Given the description of an element on the screen output the (x, y) to click on. 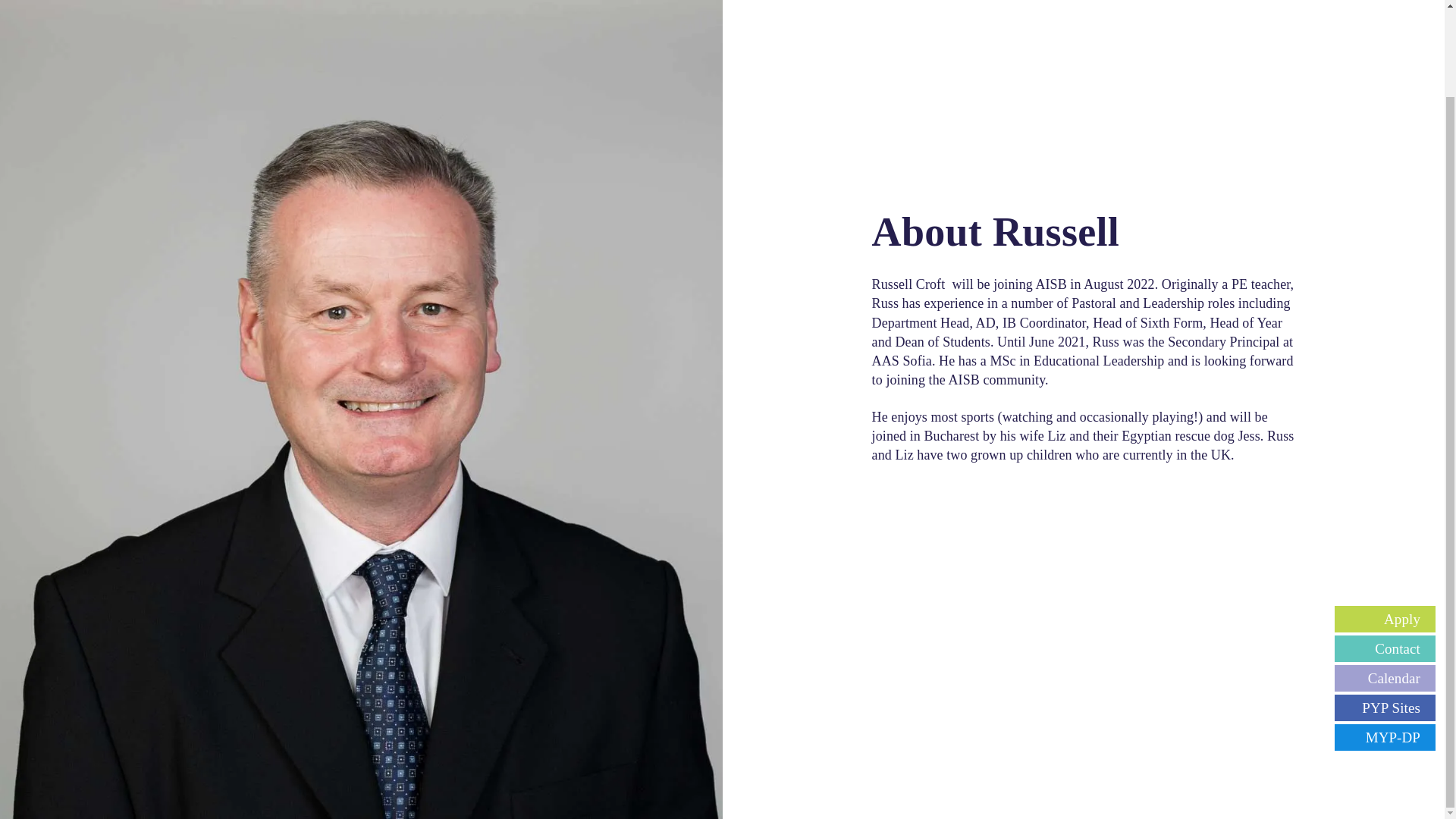
Contact (1385, 550)
PYP Sites (1385, 609)
Apply (1385, 519)
MYP-DP (1385, 638)
Calendar (1385, 579)
